Given the description of an element on the screen output the (x, y) to click on. 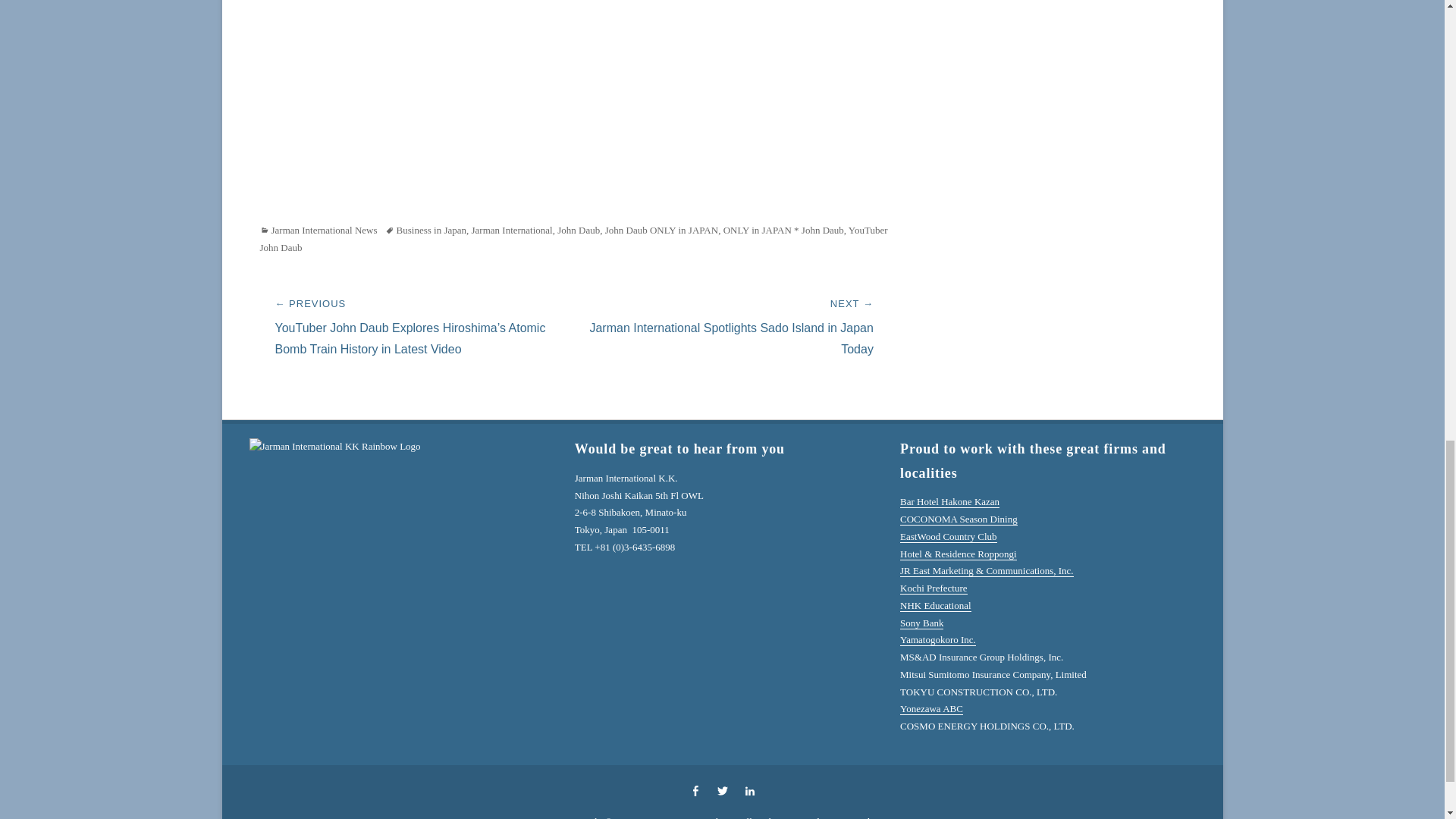
EastWood Country Club (948, 536)
LinkedIn (748, 790)
Jarman International News (318, 229)
Jarman International (512, 229)
Facebook (694, 790)
John Daub (578, 229)
COCONOMA Season Dining (958, 518)
Bar Hotel Hakone Kazan (948, 501)
Twitter (721, 790)
YouTuber John Daub (572, 238)
